Given the description of an element on the screen output the (x, y) to click on. 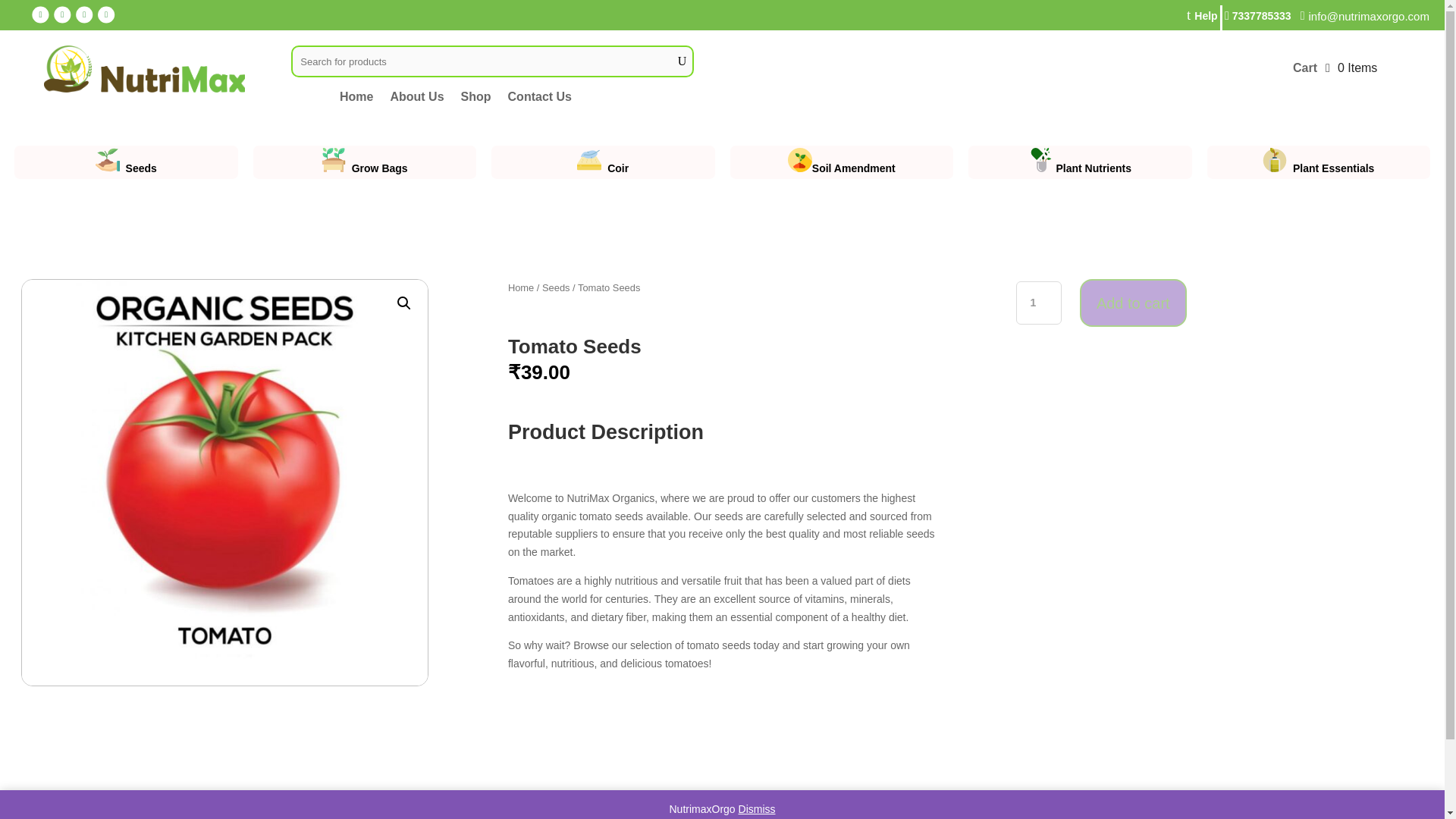
Follow on Facebook (41, 16)
Cart (1304, 71)
1 (1038, 303)
Seeds (555, 287)
Contact Us (540, 99)
Home (355, 99)
0 Items (1350, 67)
Follow on Youtube (107, 16)
Follow on Instagram (63, 16)
